Given the description of an element on the screen output the (x, y) to click on. 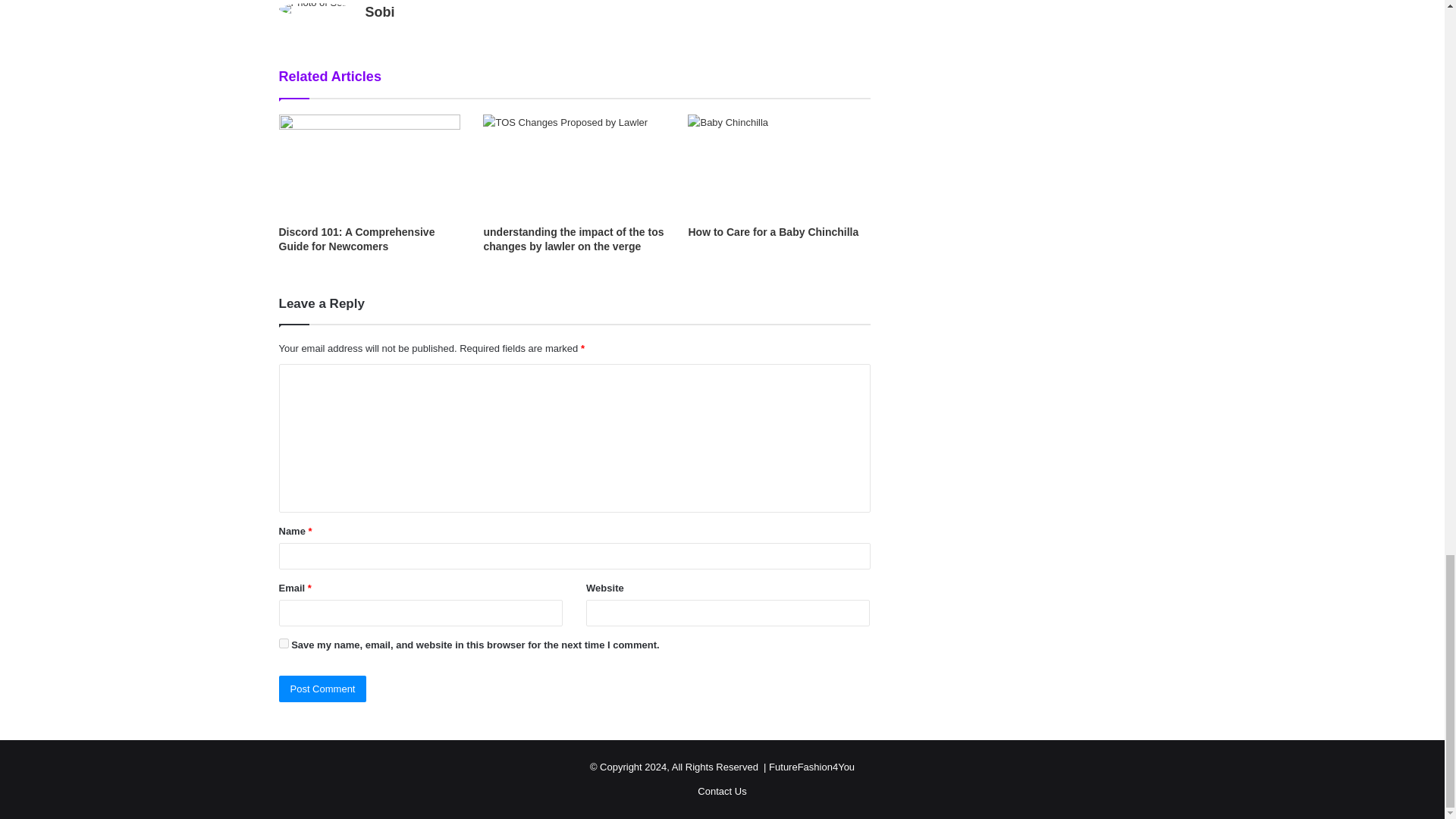
Post Comment (322, 688)
Sobi (379, 11)
yes (283, 643)
How to Care for a Baby Chinchilla (773, 232)
Discord 101: A Comprehensive Guide for Newcomers (357, 239)
